Given the description of an element on the screen output the (x, y) to click on. 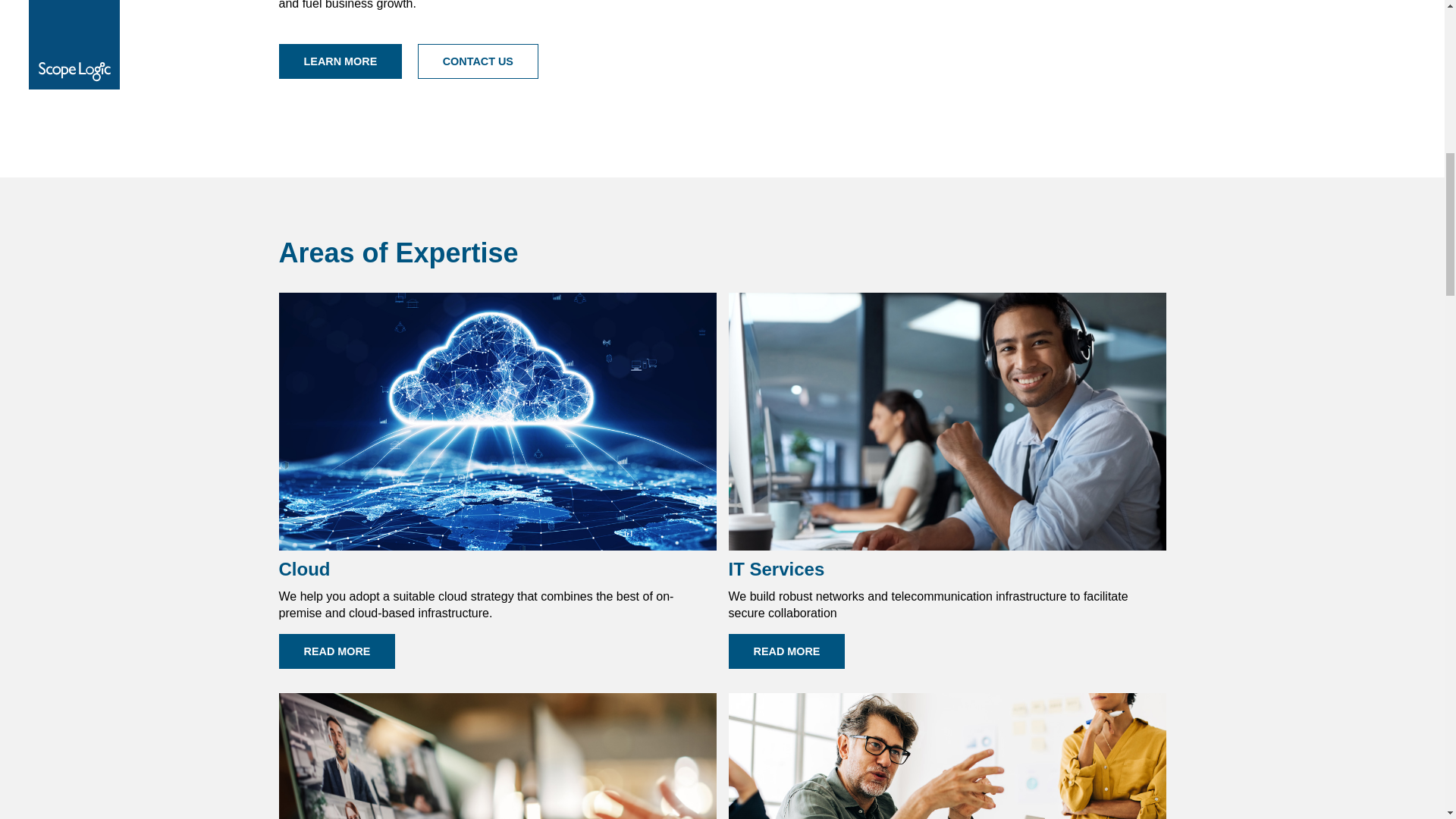
LEARN MORE (341, 61)
